Given the description of an element on the screen output the (x, y) to click on. 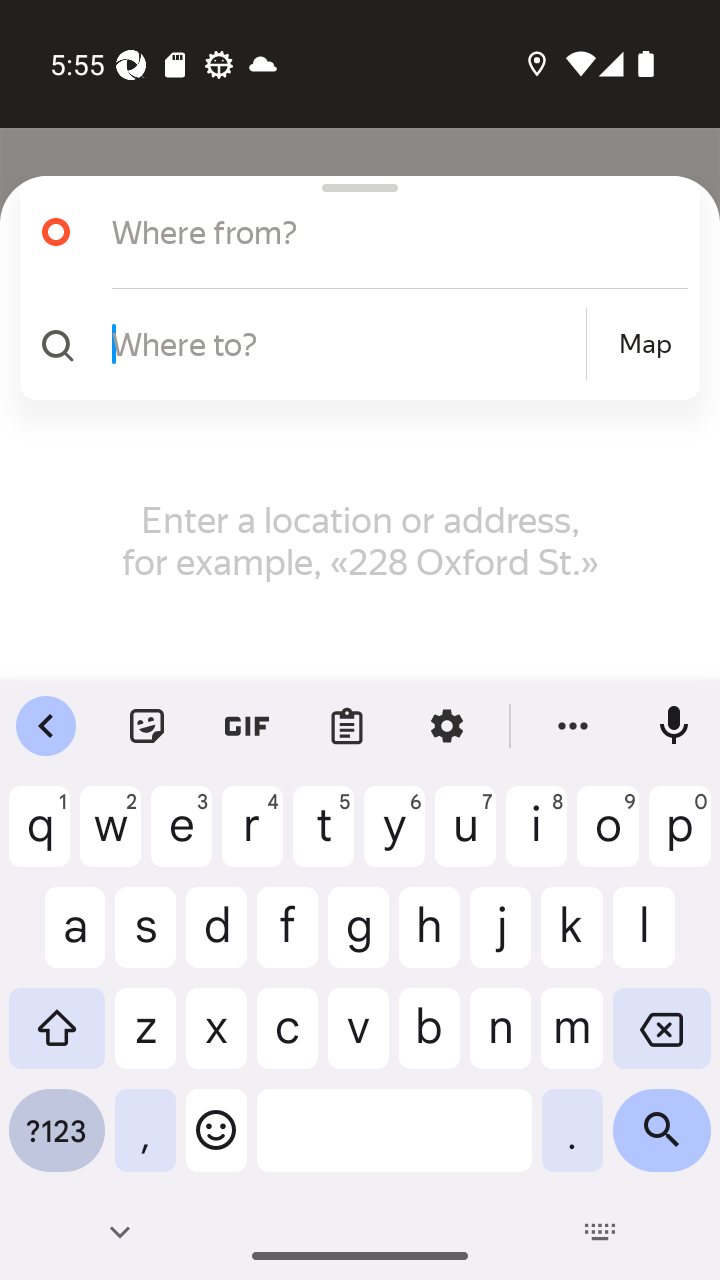
Where from? (352, 232)
Where from? (373, 232)
Where to? Map Map (352, 343)
Map (645, 343)
Where to? (346, 343)
